Given the description of an element on the screen output the (x, y) to click on. 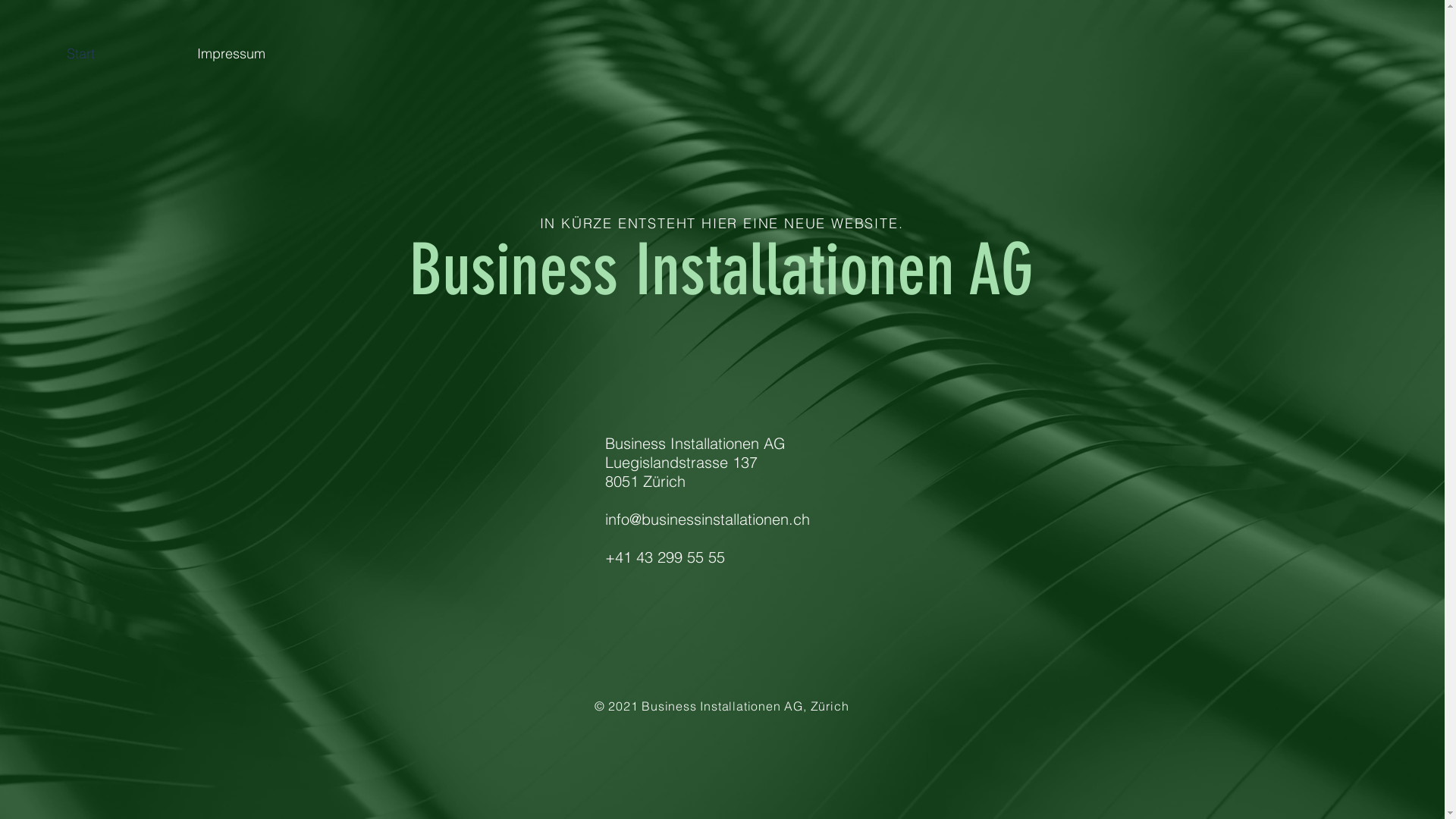
Impressum Element type: text (270, 53)
info@businessinstallationen.ch Element type: text (707, 518)
Start Element type: text (120, 53)
